Given the description of an element on the screen output the (x, y) to click on. 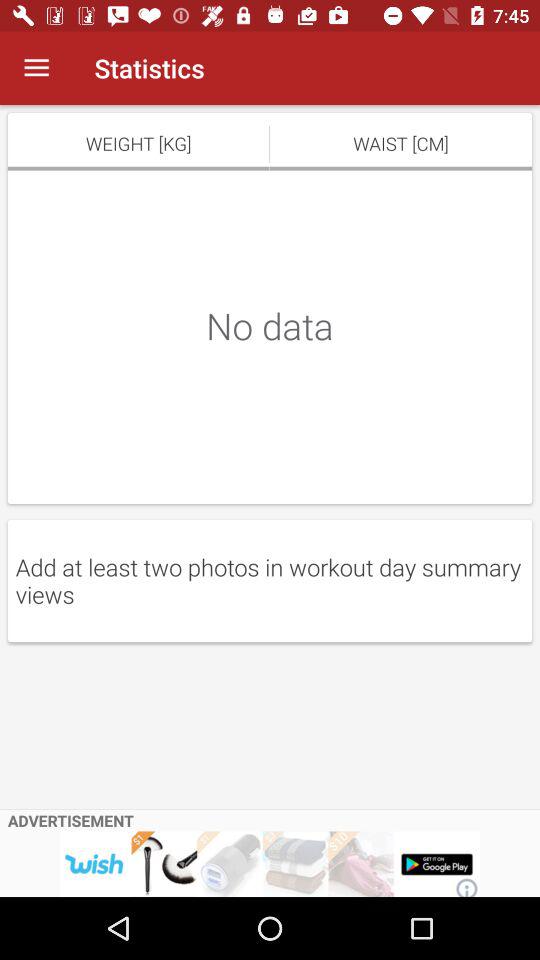
go to advertising partner (270, 864)
